Given the description of an element on the screen output the (x, y) to click on. 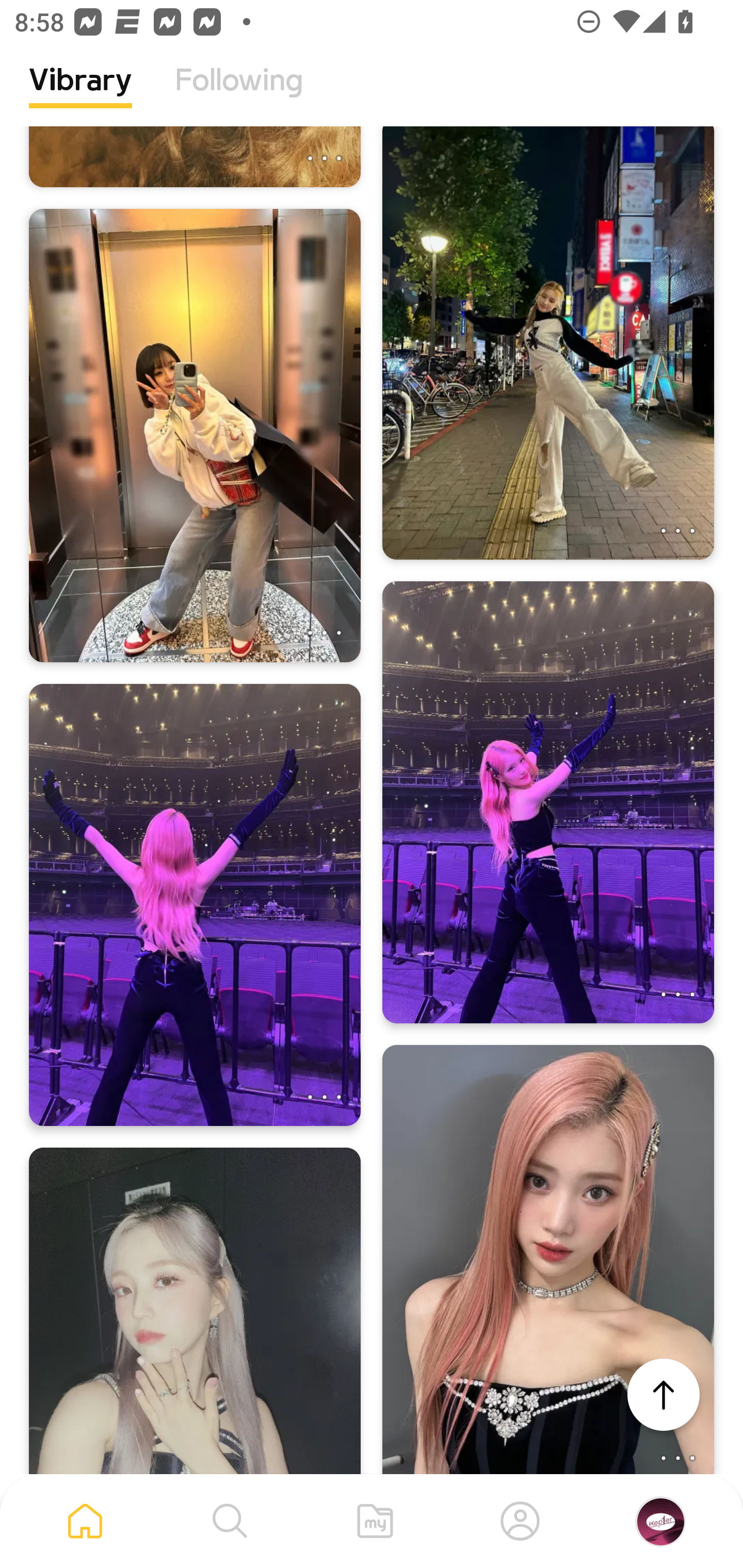
Vibrary (80, 95)
Following (239, 95)
